Given the description of an element on the screen output the (x, y) to click on. 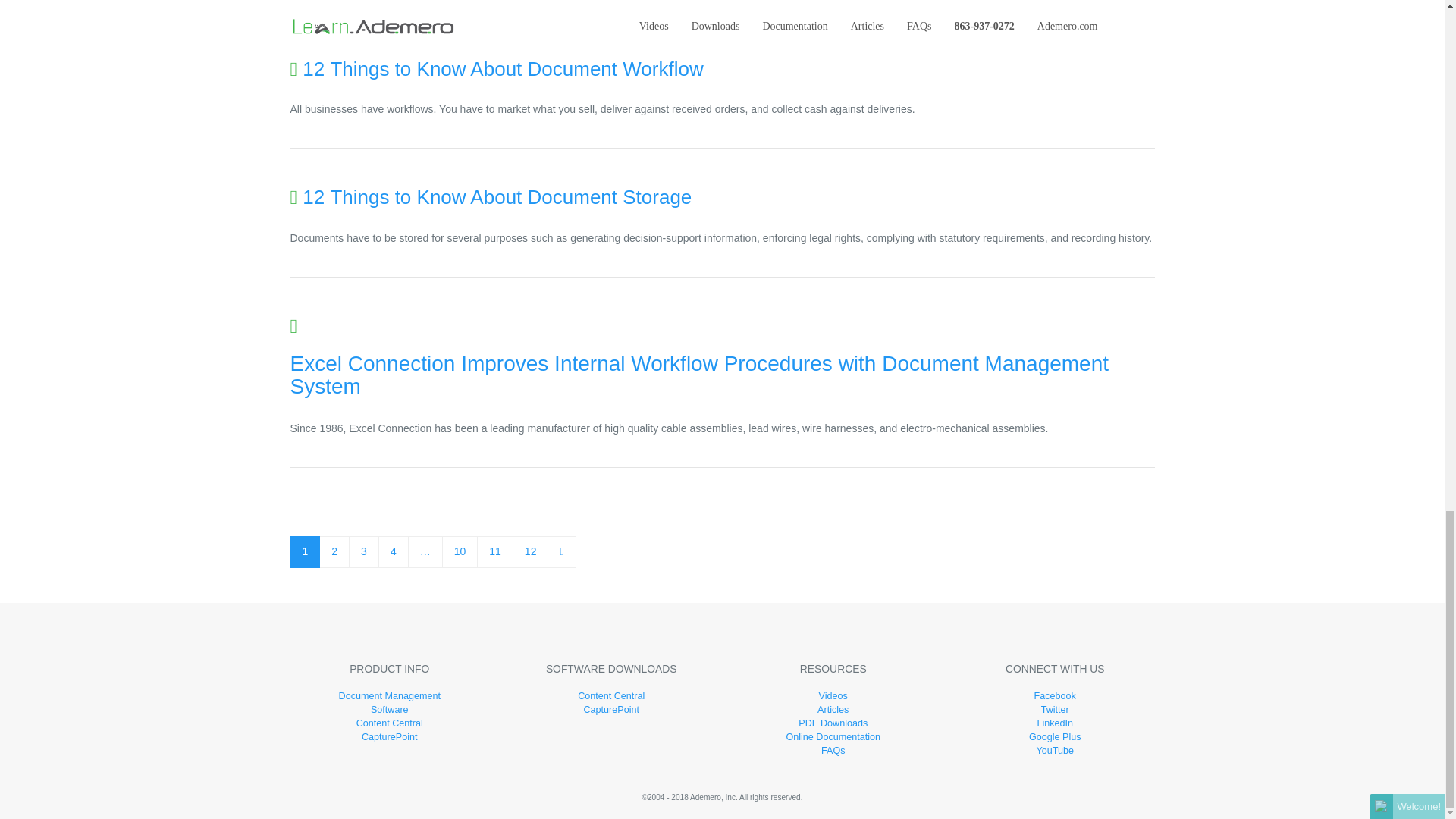
12 Things to Know About Document Workflow (502, 68)
